Given the description of an element on the screen output the (x, y) to click on. 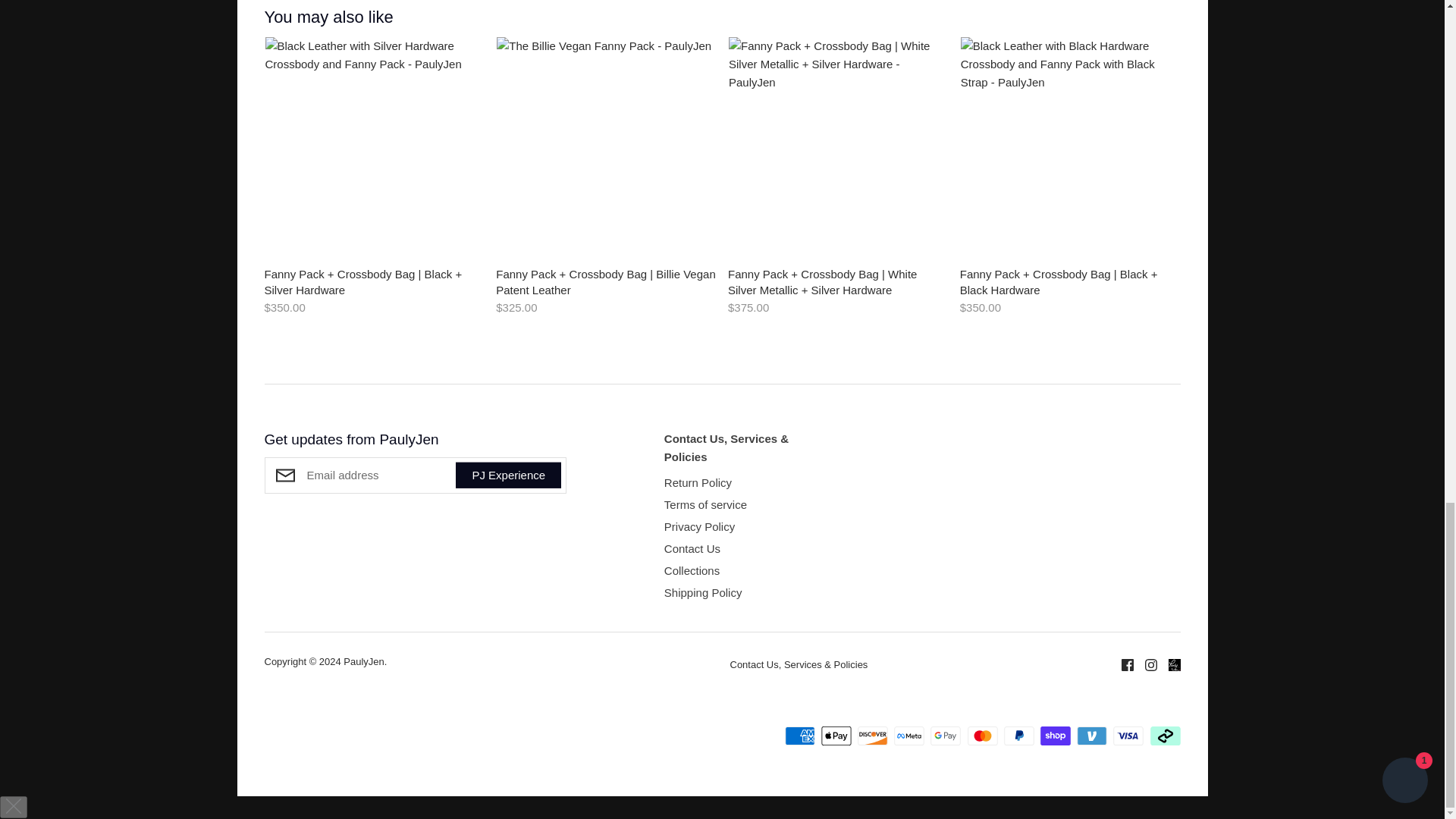
Google Pay (945, 735)
Meta Pay (908, 735)
PayPal (1018, 735)
Instagram (1144, 663)
American Express (799, 735)
Mastercard (982, 735)
Facebook (1121, 663)
Apple Pay (836, 735)
Discover (872, 735)
